Given the description of an element on the screen output the (x, y) to click on. 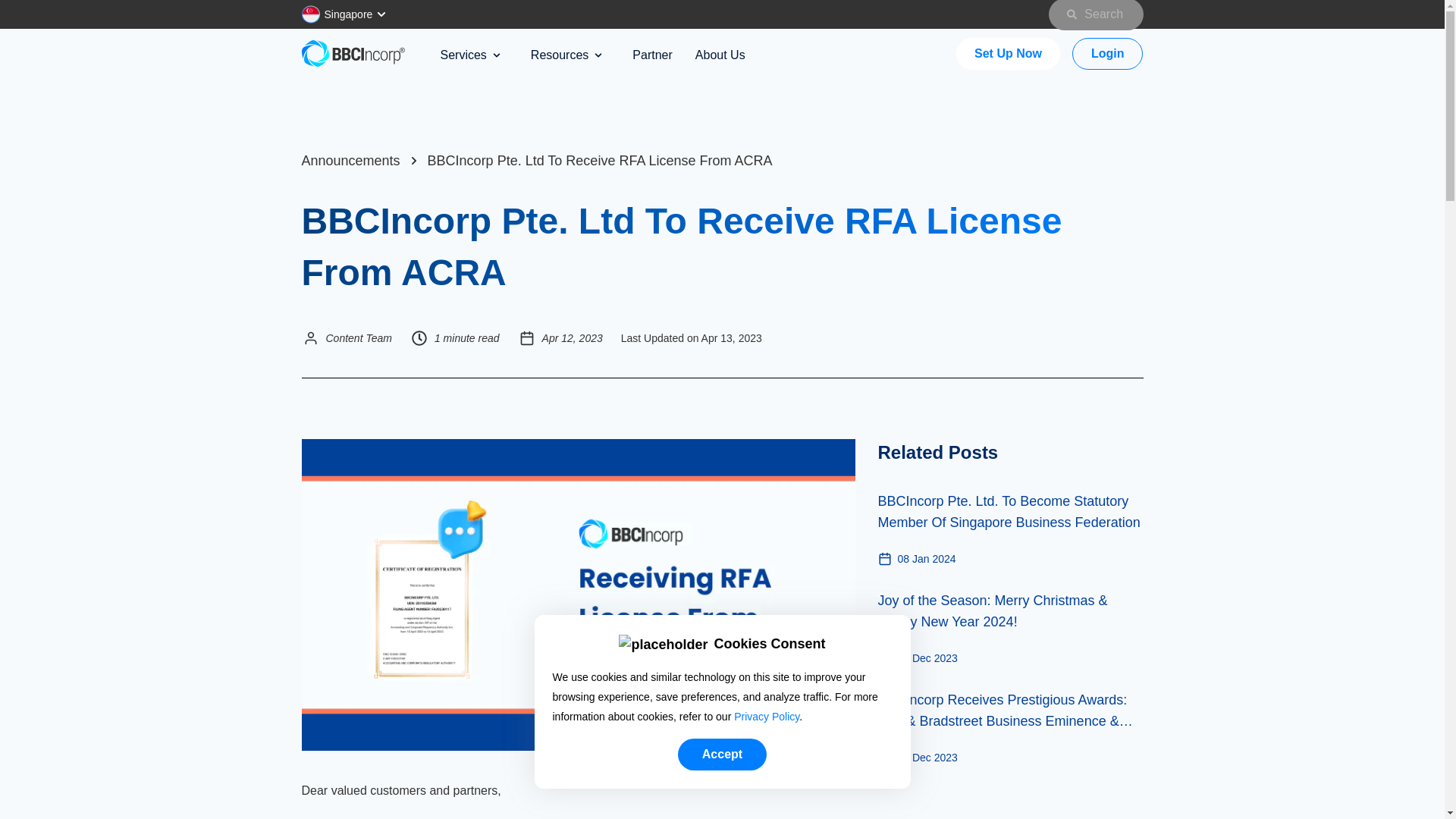
Partner (651, 55)
Search (1095, 15)
Resources (566, 55)
Partner (651, 55)
Content Team (358, 337)
About Us (720, 55)
Login (1106, 53)
Set Up Now (1007, 53)
Services (469, 55)
Announcements (350, 160)
